Given the description of an element on the screen output the (x, y) to click on. 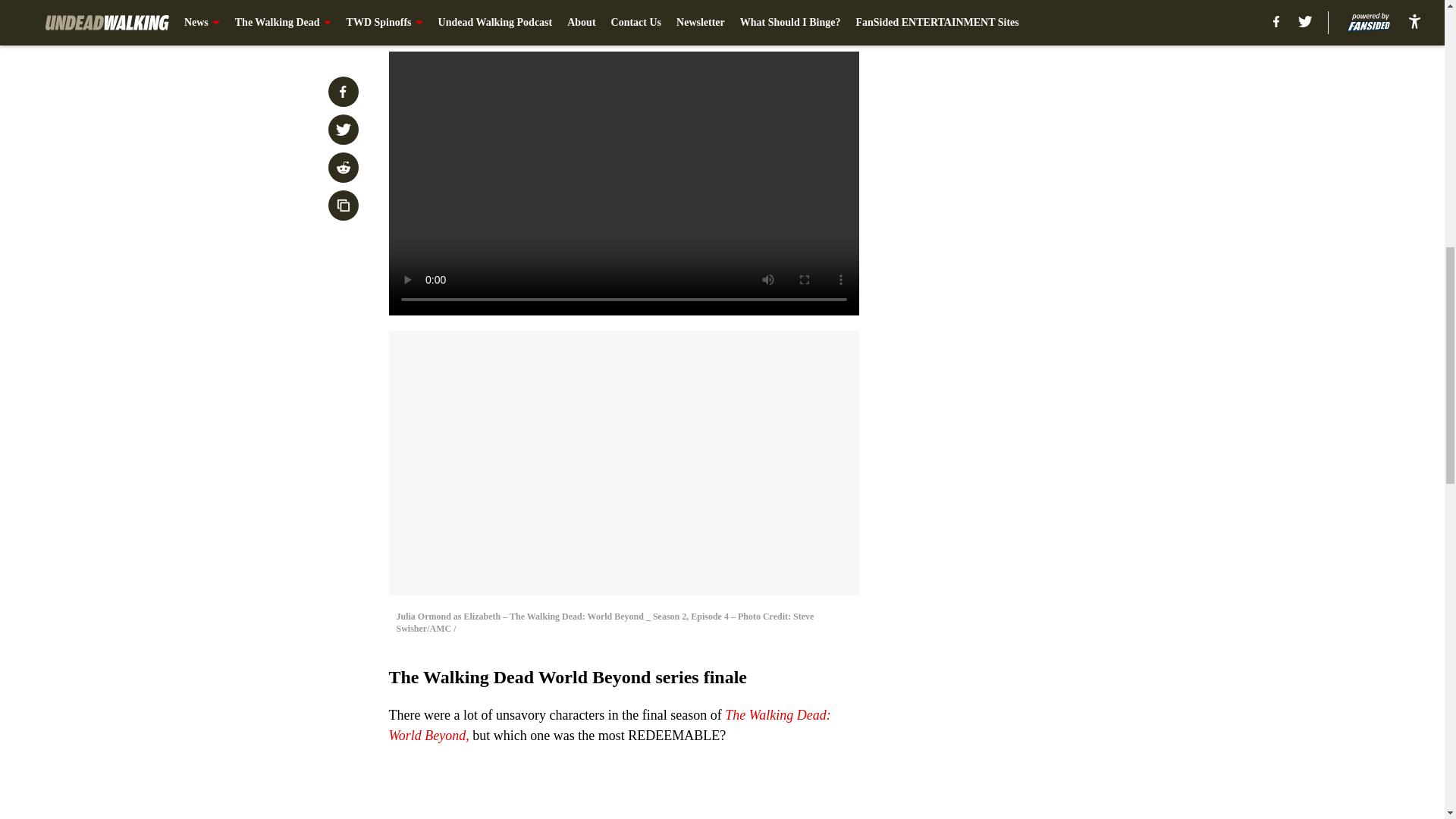
Prev (433, 20)
Next (813, 20)
The Walking Dead: World Beyond, (608, 724)
